Given the description of an element on the screen output the (x, y) to click on. 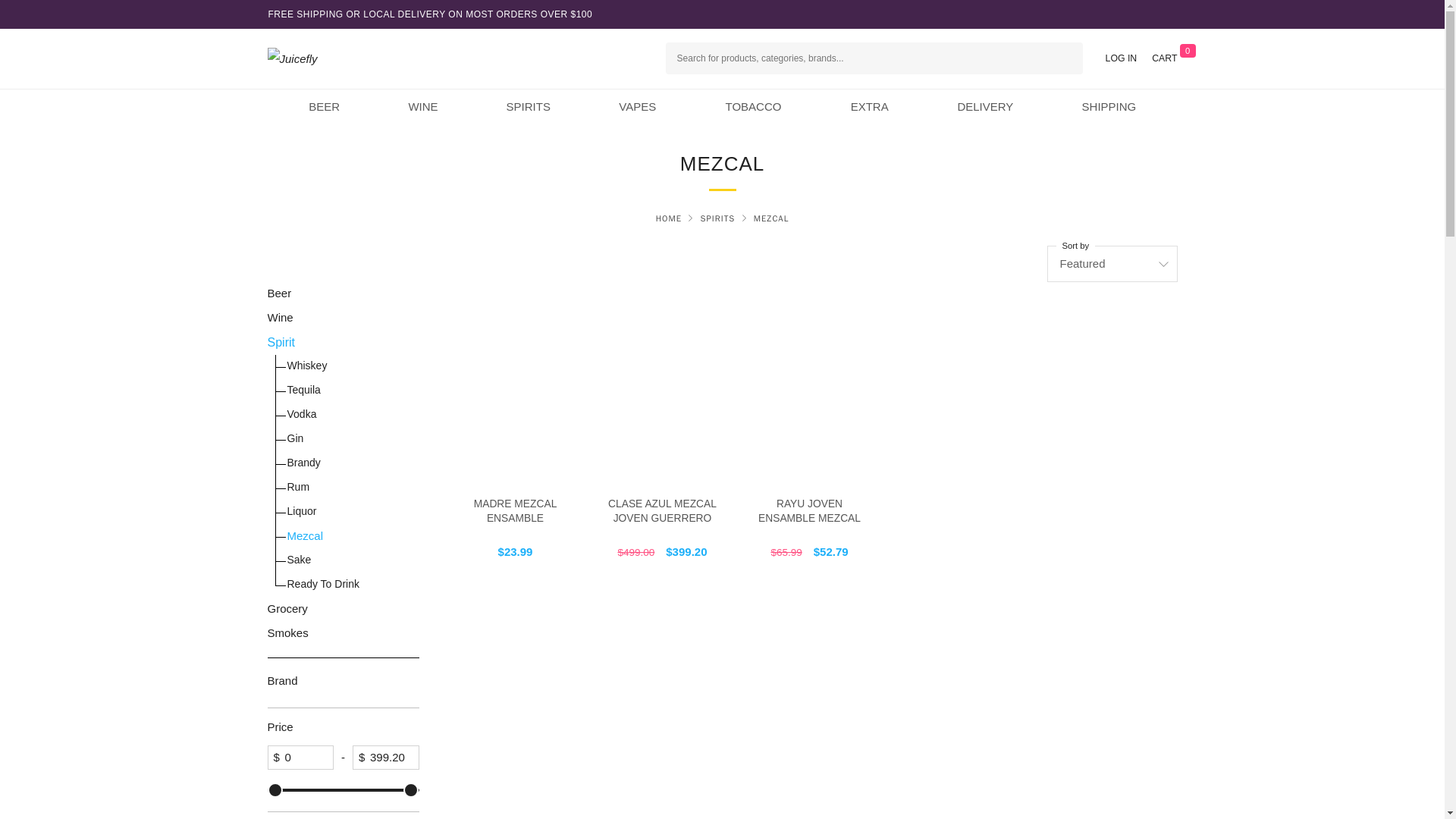
0 (299, 757)
399.20 (385, 757)
Beer (358, 106)
399 (342, 789)
Wine (456, 106)
0 (342, 789)
